Given the description of an element on the screen output the (x, y) to click on. 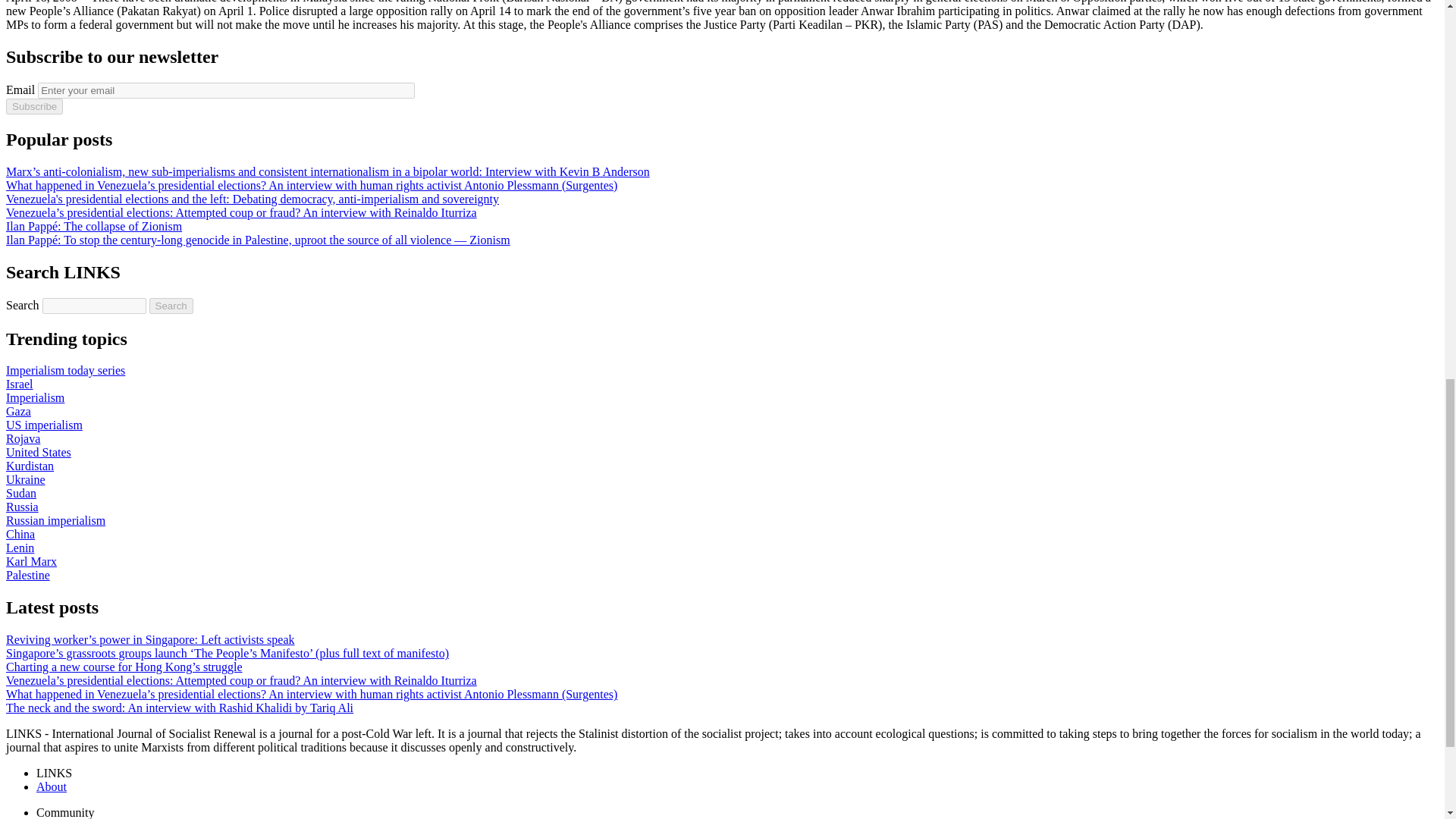
Search (171, 305)
Gaza (17, 410)
Imperialism (34, 397)
Russia (22, 506)
Palestine (27, 574)
Israel (19, 383)
China (19, 533)
Kurdistan (29, 465)
US imperialism (43, 424)
Subscribe (33, 106)
